Given the description of an element on the screen output the (x, y) to click on. 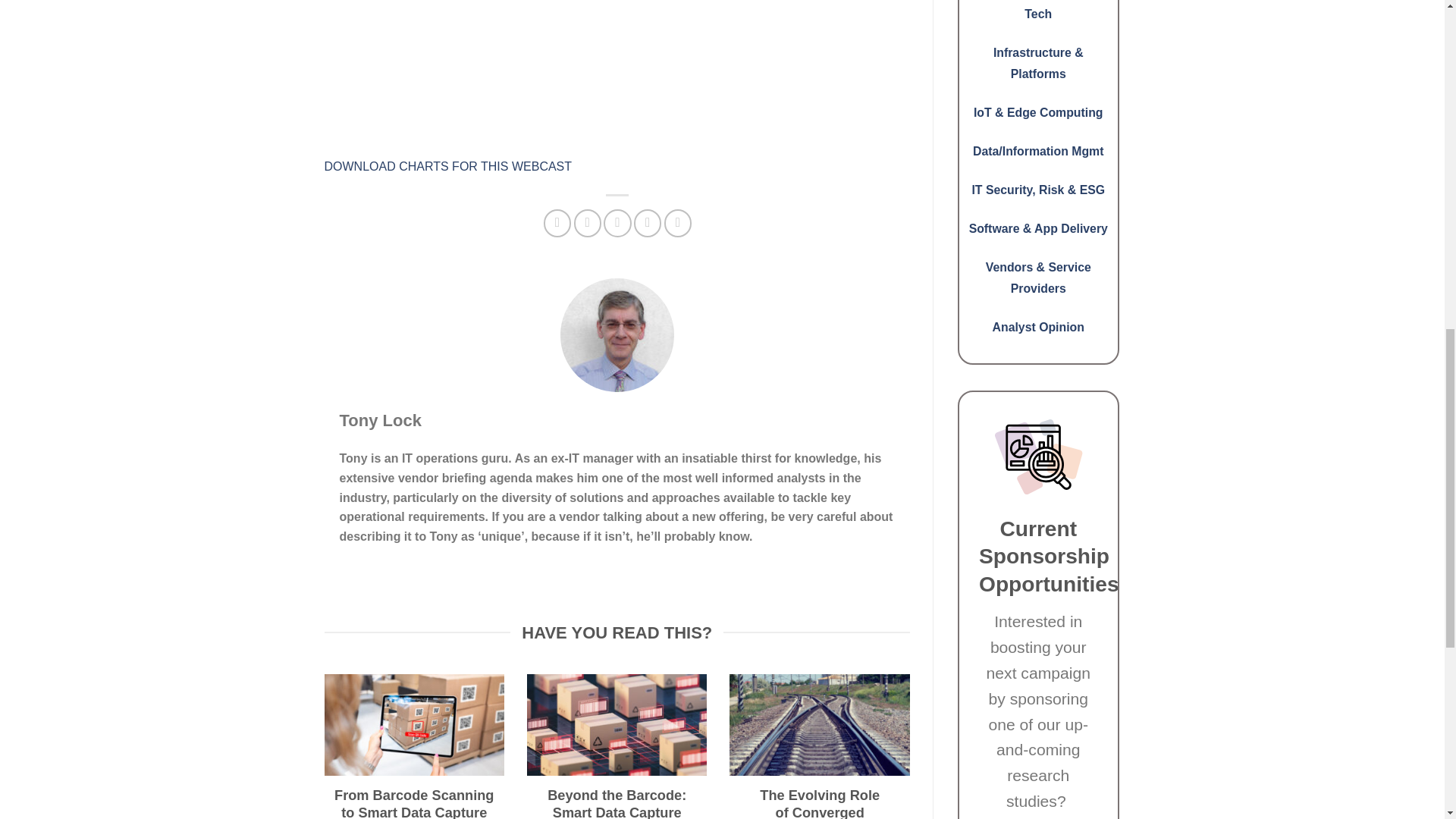
Share on Twitter (587, 222)
Share on LinkedIn (677, 222)
Tony Lock (380, 420)
Share on Facebook (556, 222)
Pin on Pinterest (647, 222)
DOWNLOAD CHARTS FOR THIS WEBCAST (448, 165)
Email to a Friend (617, 222)
